Given the description of an element on the screen output the (x, y) to click on. 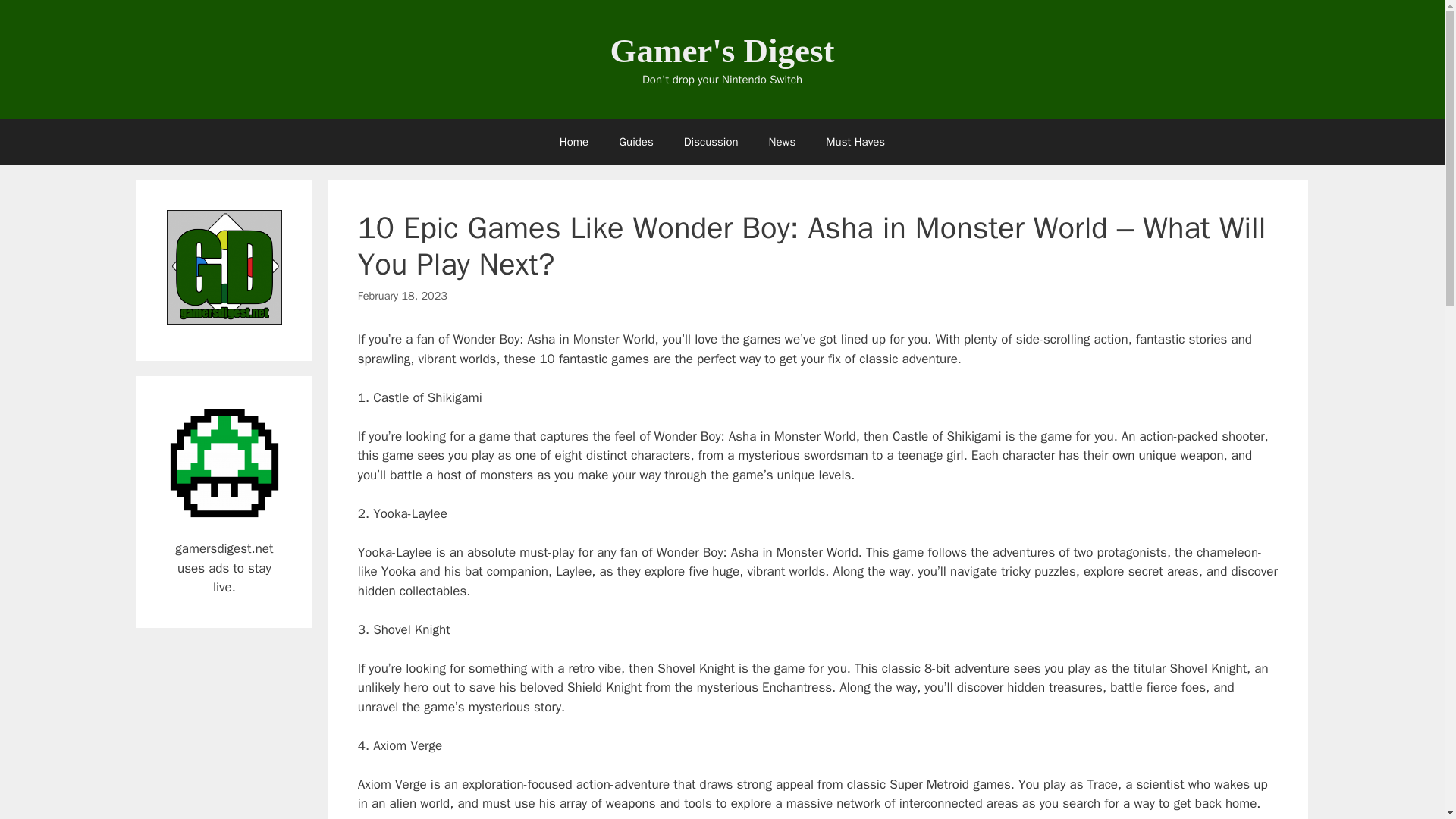
February 18, 2023 (402, 295)
3:01 pm (402, 295)
Discussion (711, 140)
Must Haves (854, 140)
Gamer's Digest (722, 50)
Home (574, 140)
Guides (636, 140)
News (782, 140)
